Given the description of an element on the screen output the (x, y) to click on. 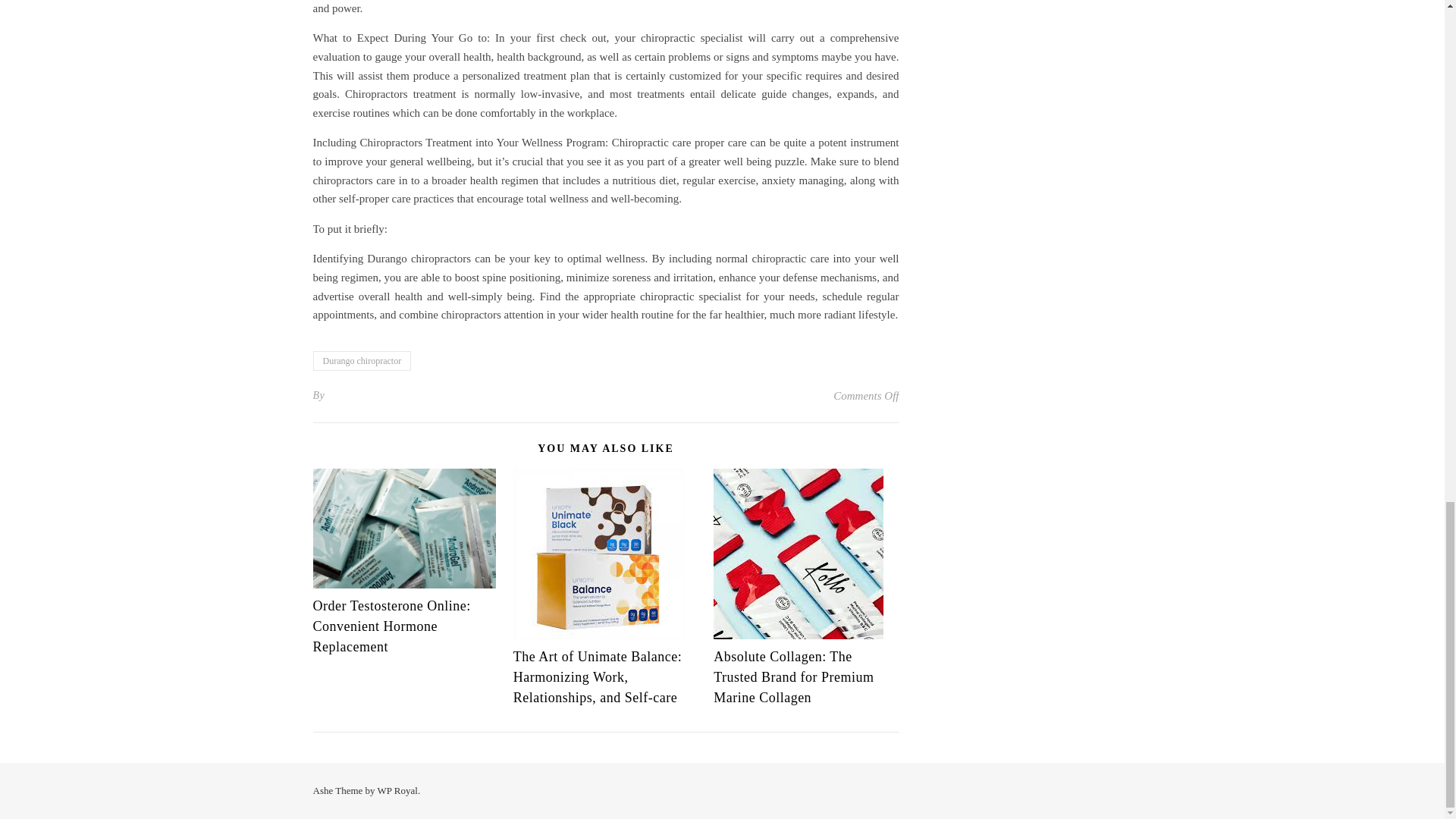
Order Testosterone Online: Convenient Hormone Replacement (391, 626)
Durango chiropractor (361, 361)
WP Royal (397, 790)
